Given the description of an element on the screen output the (x, y) to click on. 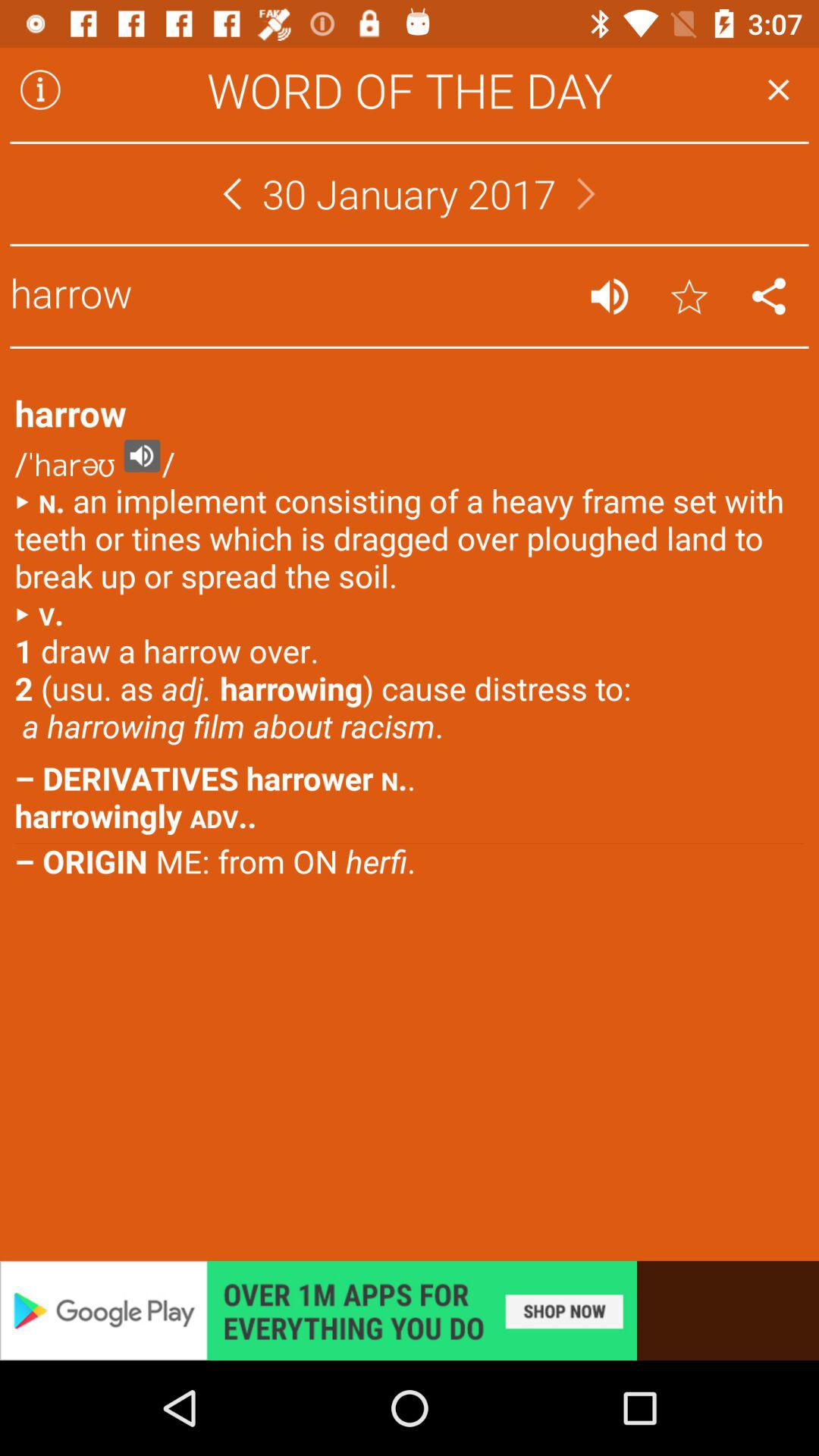
go to next day (586, 193)
